Given the description of an element on the screen output the (x, y) to click on. 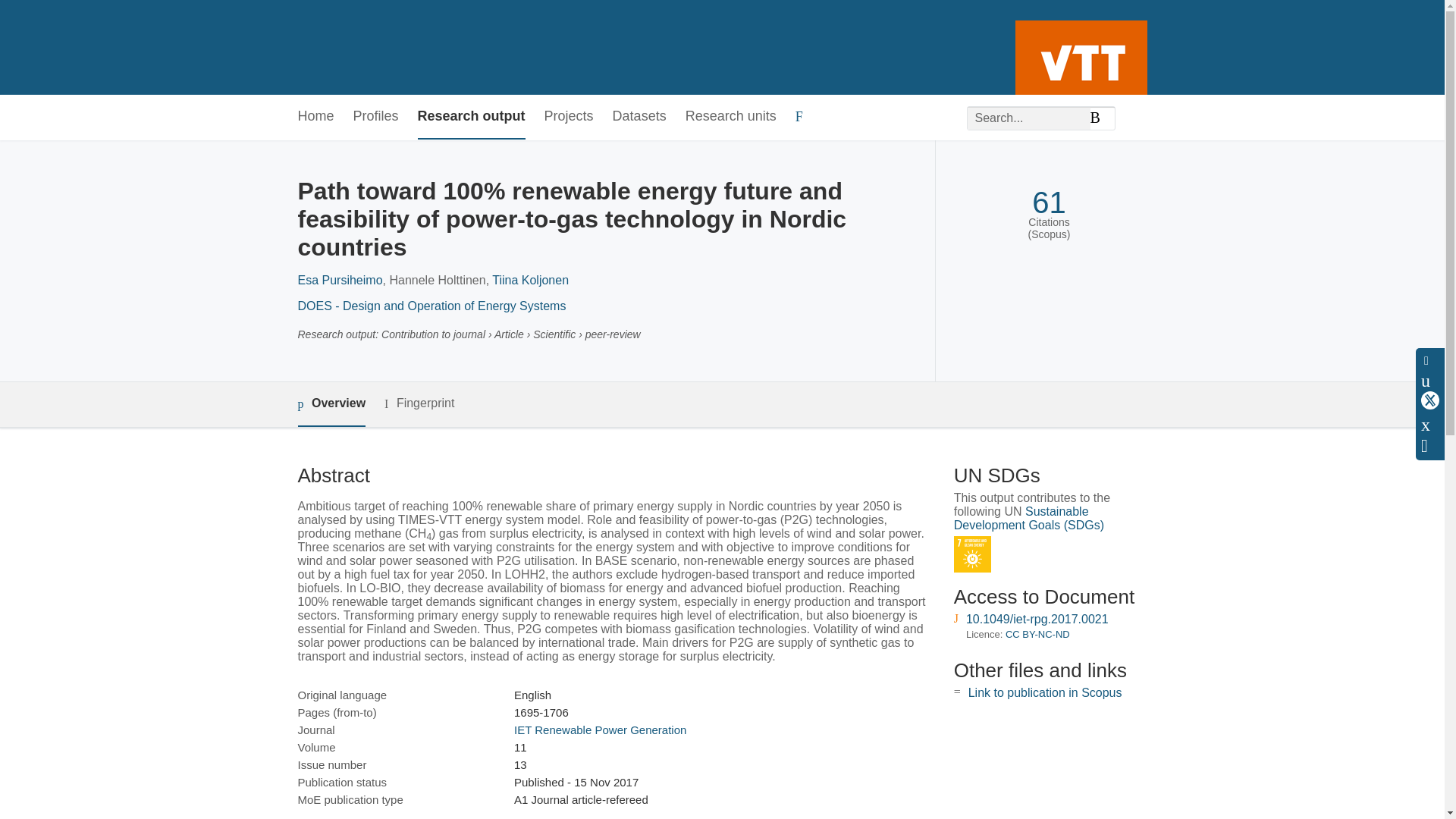
Research units (730, 117)
CC BY-NC-ND (1038, 633)
Tiina Koljonen (530, 279)
VTT's Research Information Portal Home (322, 47)
Esa Pursiheimo (339, 279)
SDG 7 - Affordable and Clean Energy (972, 554)
Overview (331, 404)
Datasets (639, 117)
DOES - Design and Operation of Energy Systems (431, 305)
61 (1048, 202)
IET Renewable Power Generation (599, 729)
Research output (471, 117)
Profiles (375, 117)
Fingerprint (419, 403)
